Given the description of an element on the screen output the (x, y) to click on. 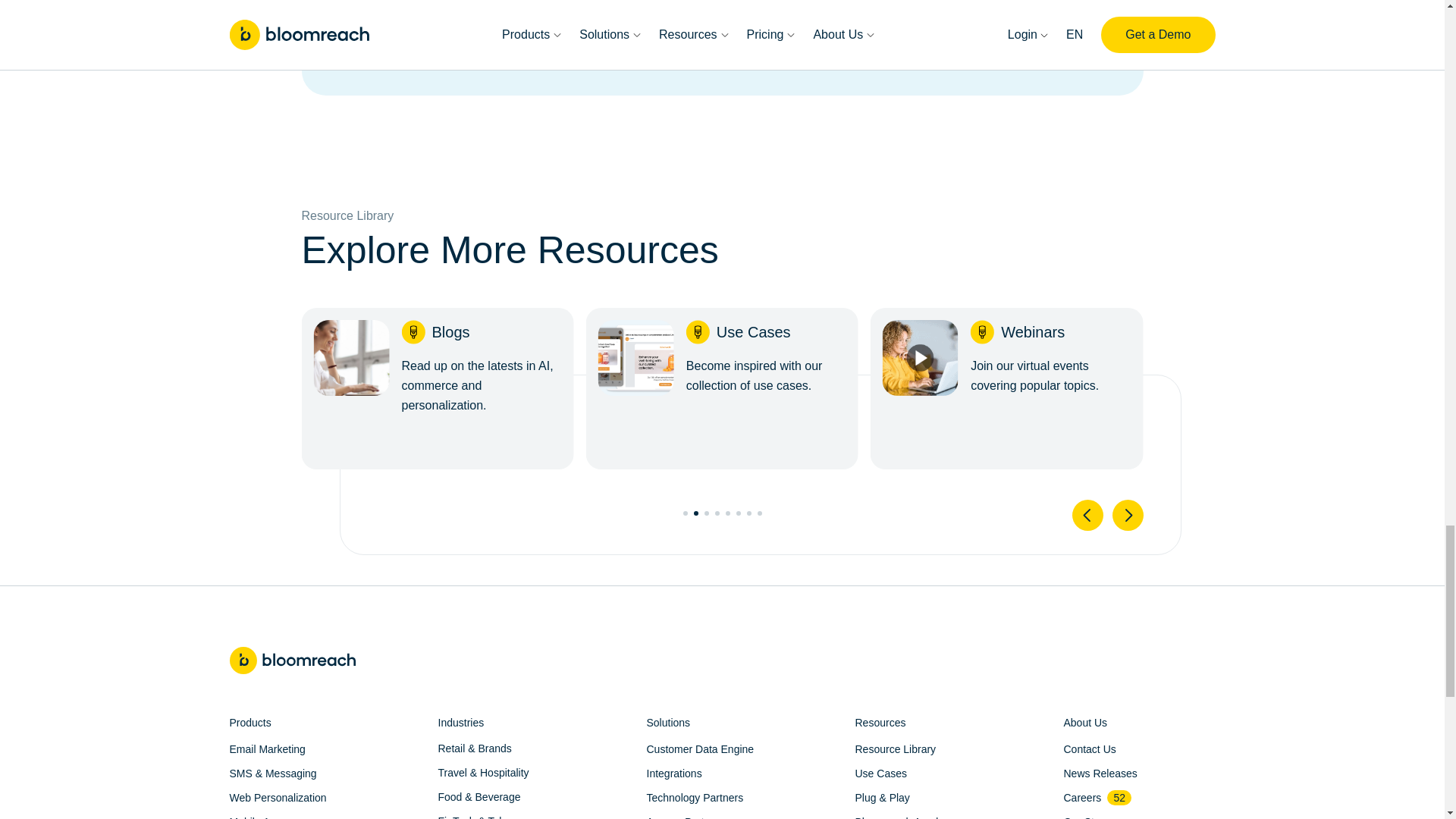
Subscribe (1062, 7)
